Given the description of an element on the screen output the (x, y) to click on. 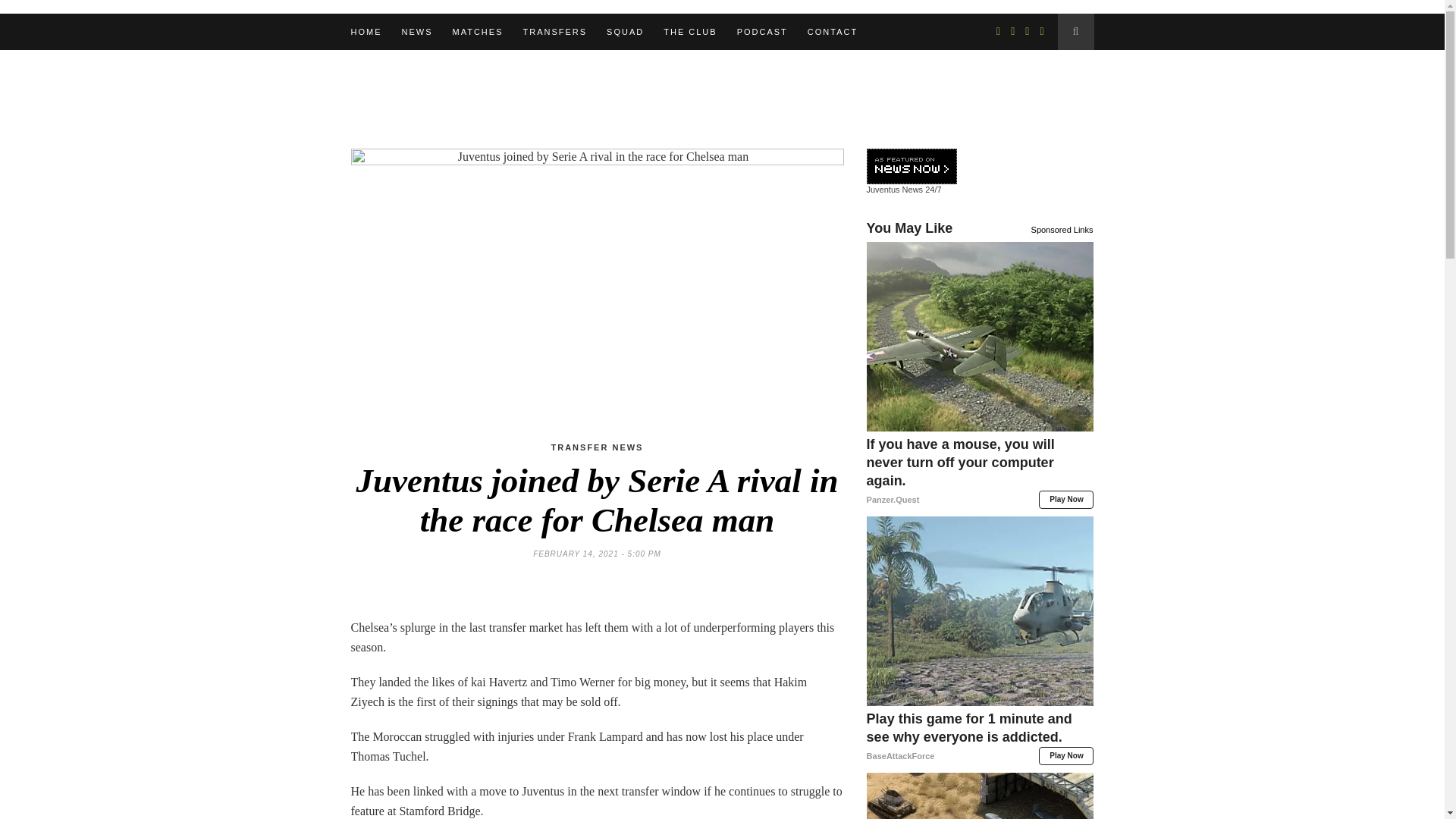
THE CLUB (689, 31)
MATCHES (476, 31)
Contact (832, 31)
Matches (476, 31)
PODCAST (761, 31)
TRANSFERS (554, 31)
The Club (689, 31)
CONTACT (832, 31)
Squad (625, 31)
SQUAD (625, 31)
